Given the description of an element on the screen output the (x, y) to click on. 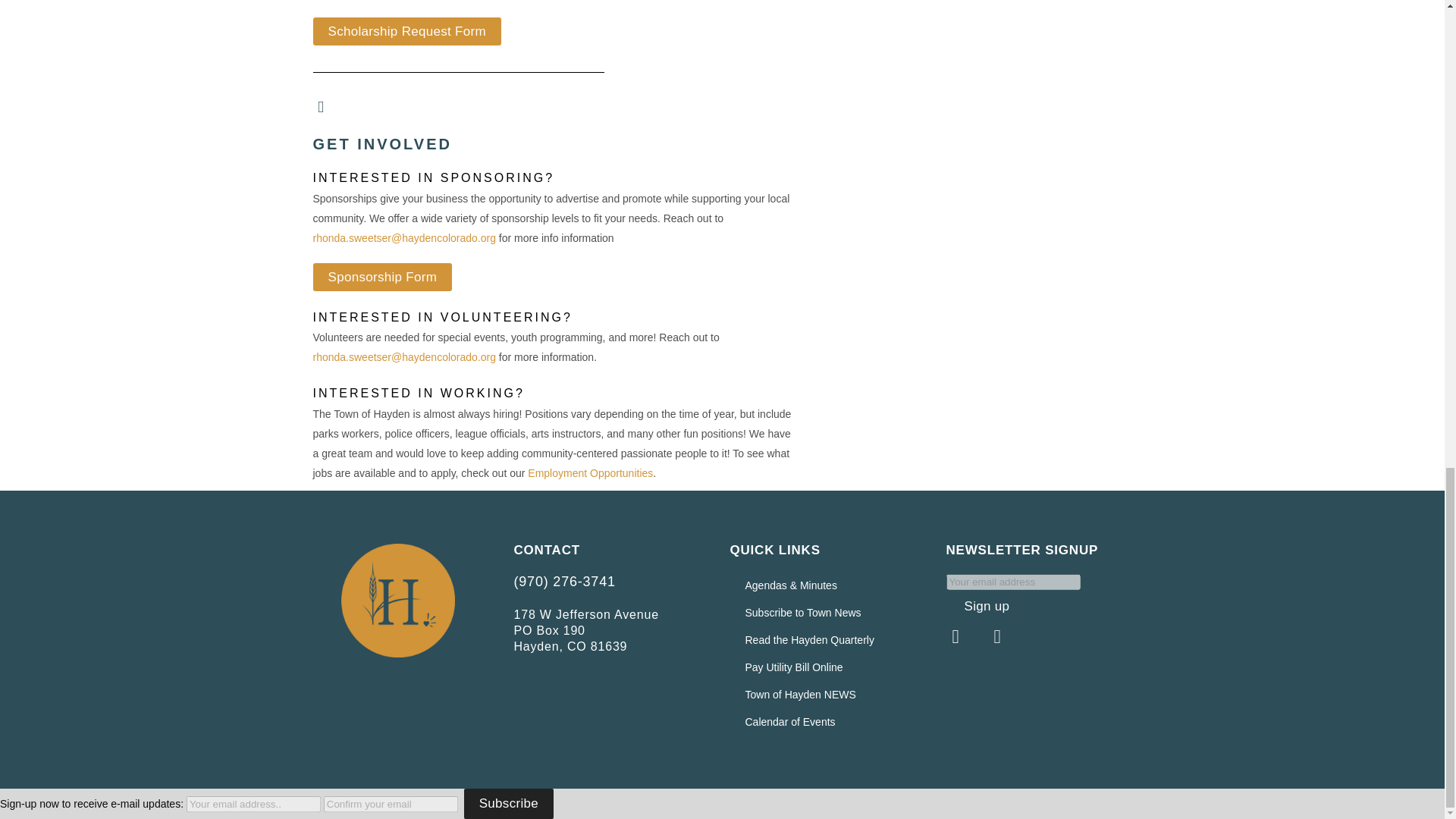
Sign up (987, 606)
